Given the description of an element on the screen output the (x, y) to click on. 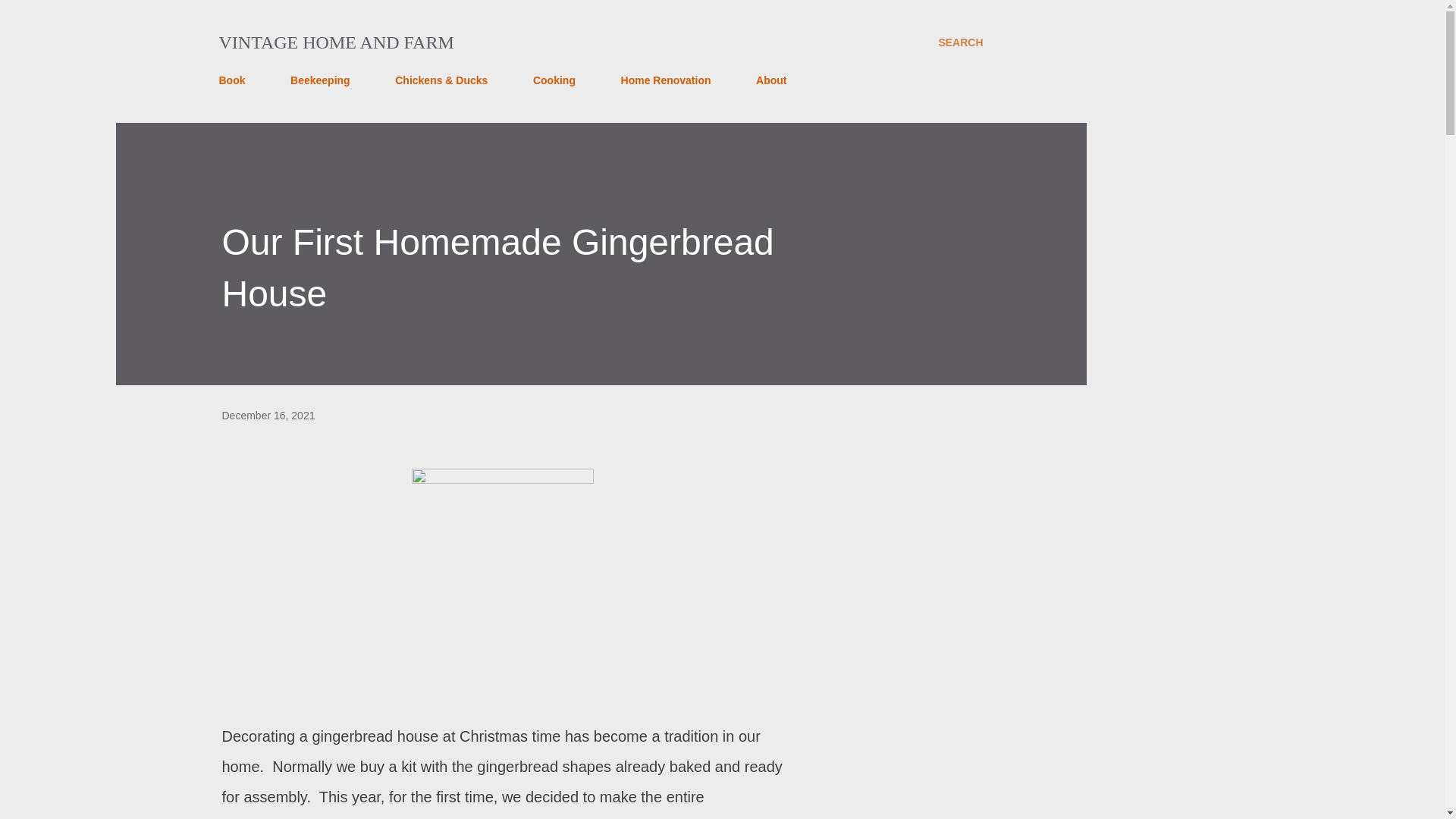
Book (235, 80)
permanent link (267, 415)
VINTAGE HOME AND FARM (335, 42)
December 16, 2021 (267, 415)
Cooking (554, 80)
Home Renovation (665, 80)
SEARCH (959, 42)
About (770, 80)
Beekeeping (320, 80)
